Given the description of an element on the screen output the (x, y) to click on. 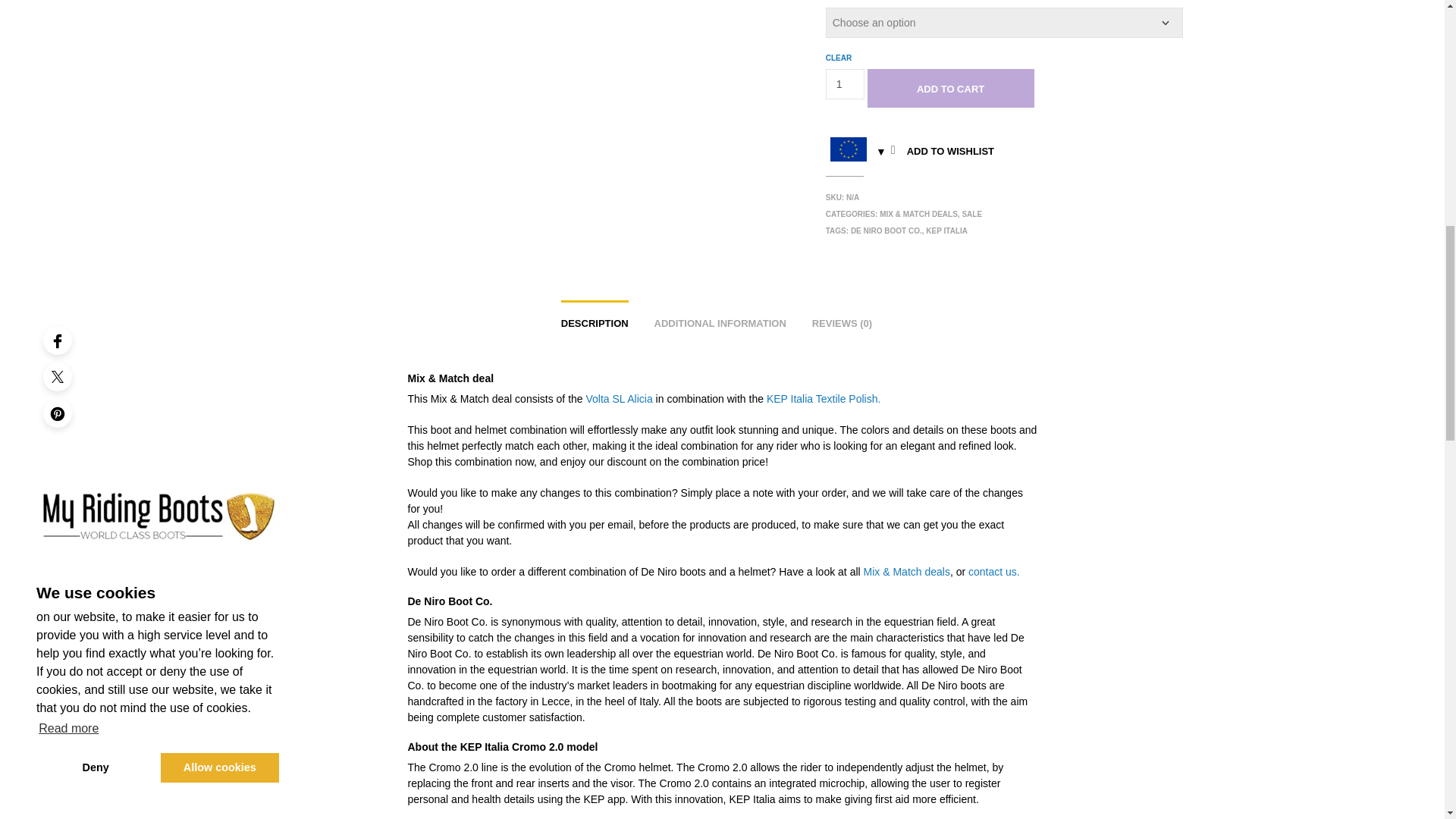
Qty (844, 83)
Please select your currency (855, 151)
1 (844, 83)
